Given the description of an element on the screen output the (x, y) to click on. 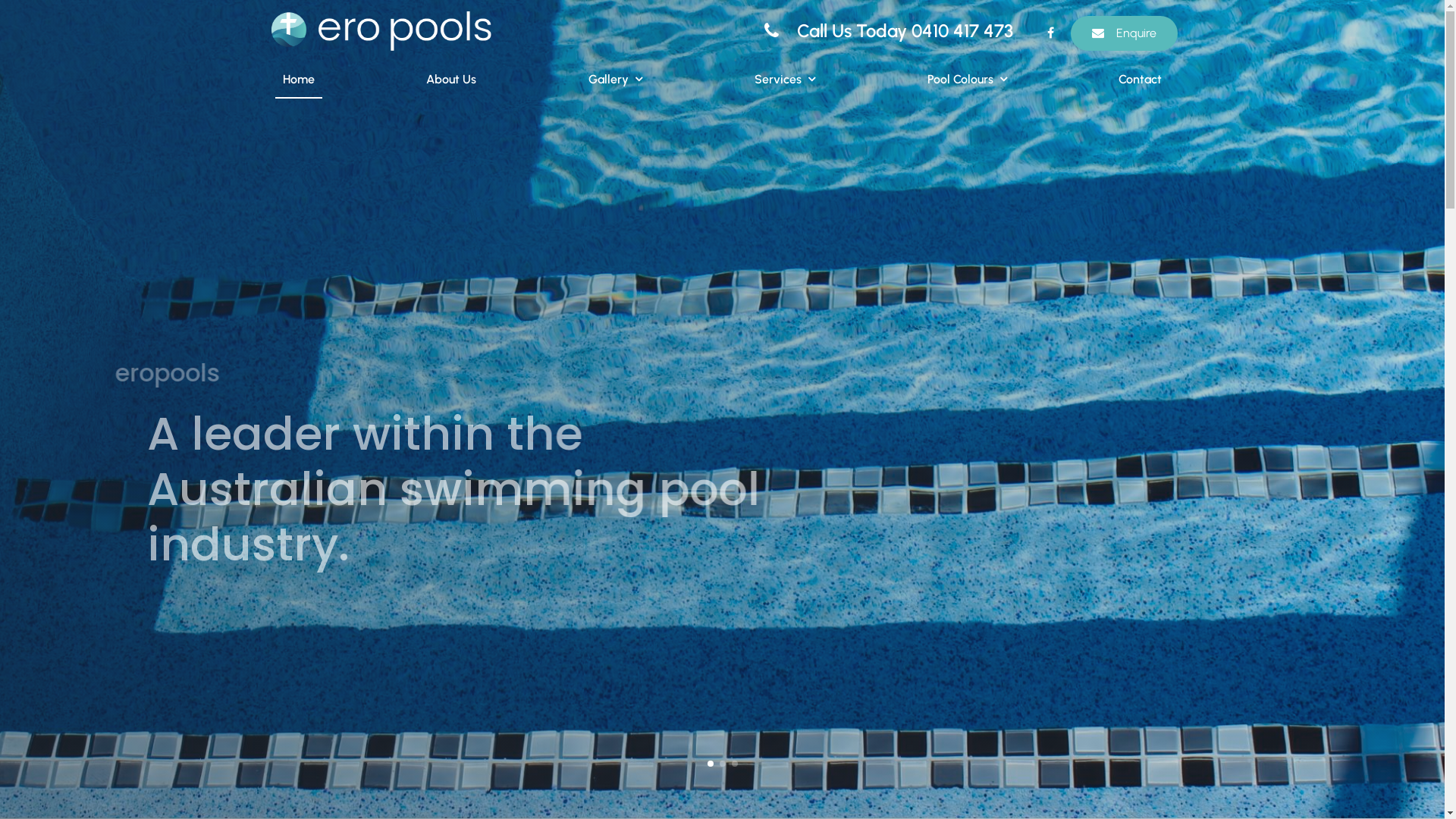
Home Element type: text (297, 80)
About Us Element type: text (450, 80)
Contact Element type: text (1139, 80)
Enquire Element type: text (1123, 33)
Services Element type: text (784, 80)
Pool Colours Element type: text (966, 80)
Gallery Element type: text (614, 80)
